Given the description of an element on the screen output the (x, y) to click on. 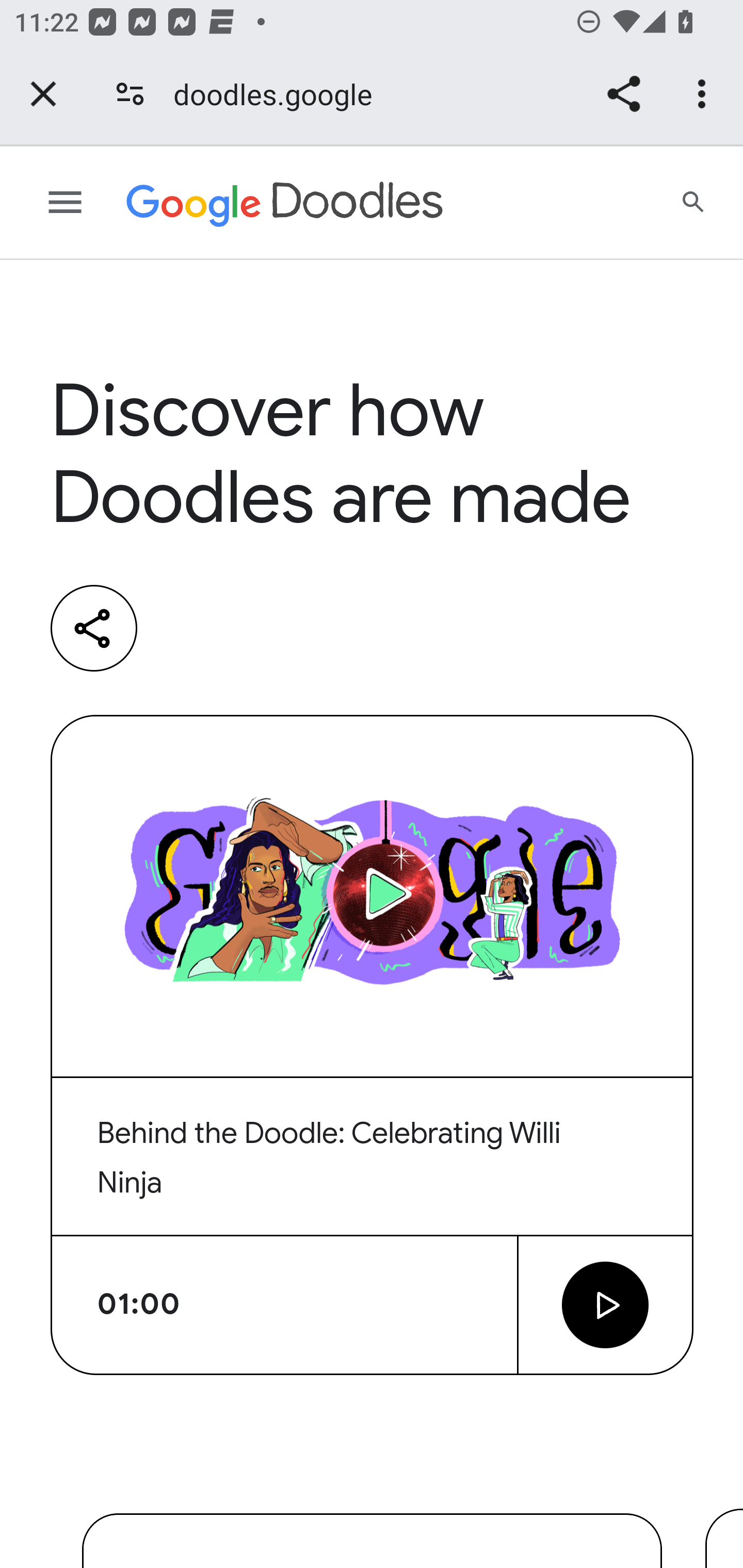
Close tab (43, 93)
Share (623, 93)
Customize and control Google Chrome (705, 93)
Connection is secure (129, 93)
doodles.google (280, 93)
Open the navigation drawer (65, 202)
Google doodles (285, 202)
Search (694, 202)
Share (93, 627)
Video preview image (372, 896)
